Given the description of an element on the screen output the (x, y) to click on. 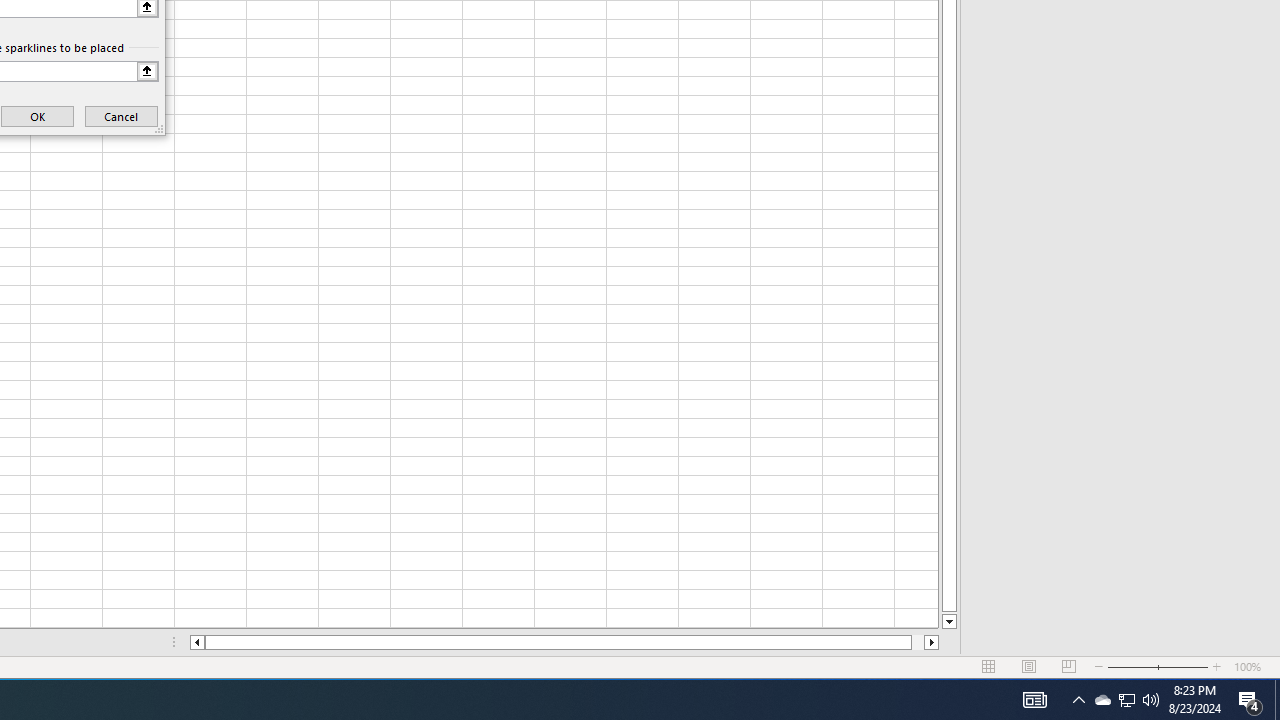
Zoom Out (1131, 667)
Column left (196, 642)
Zoom In (1217, 667)
Line down (948, 622)
Column right (932, 642)
Class: NetUIScrollBar (564, 642)
Normal (988, 667)
Page Break Preview (1069, 667)
Page right (917, 642)
Zoom (1158, 667)
